Given the description of an element on the screen output the (x, y) to click on. 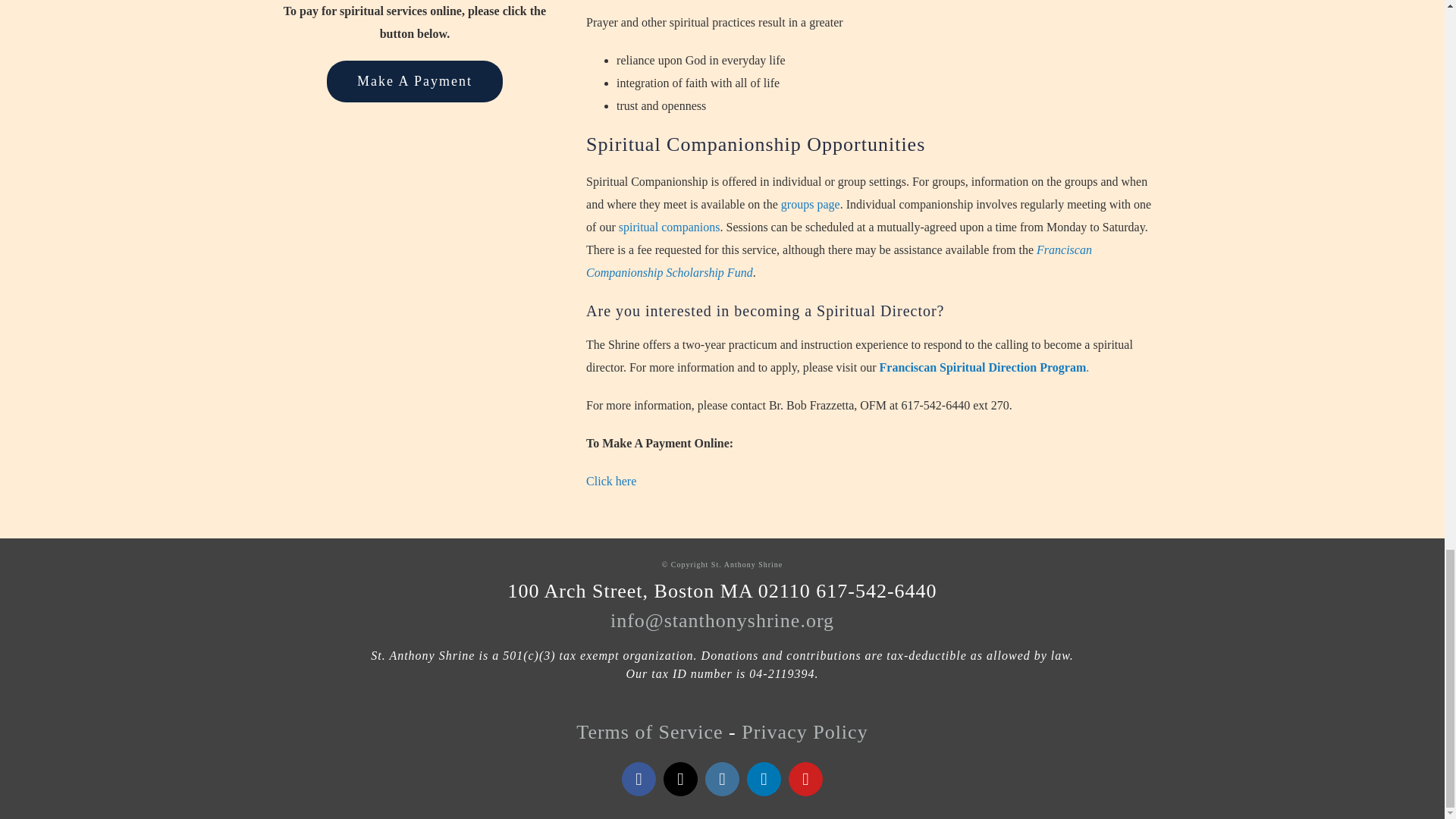
Instagram (721, 779)
Facebook (638, 779)
LinkedIn (763, 779)
Companionship Scholarship Fund (839, 261)
Instagram (721, 779)
Facebook (638, 779)
Privacy Policy (804, 731)
groups page (810, 204)
Franciscan Spiritual Direction Program. (984, 367)
YouTube (805, 779)
